Given the description of an element on the screen output the (x, y) to click on. 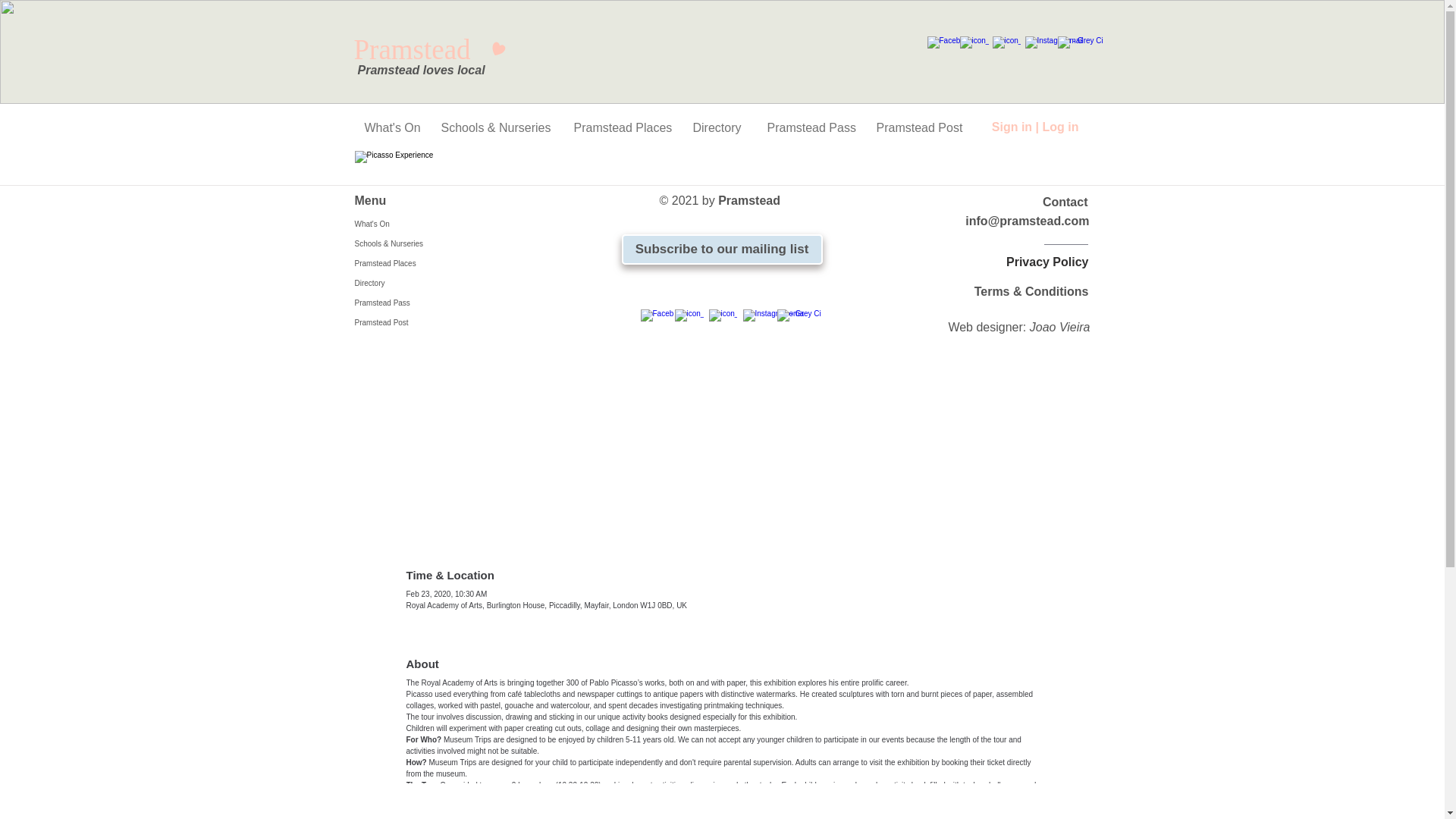
Pramstead Post (918, 127)
What's On (425, 224)
Pramstead Places (621, 127)
Pramstead Pass (809, 127)
Directory (718, 127)
What's On (391, 127)
Pramstead (429, 49)
